Given the description of an element on the screen output the (x, y) to click on. 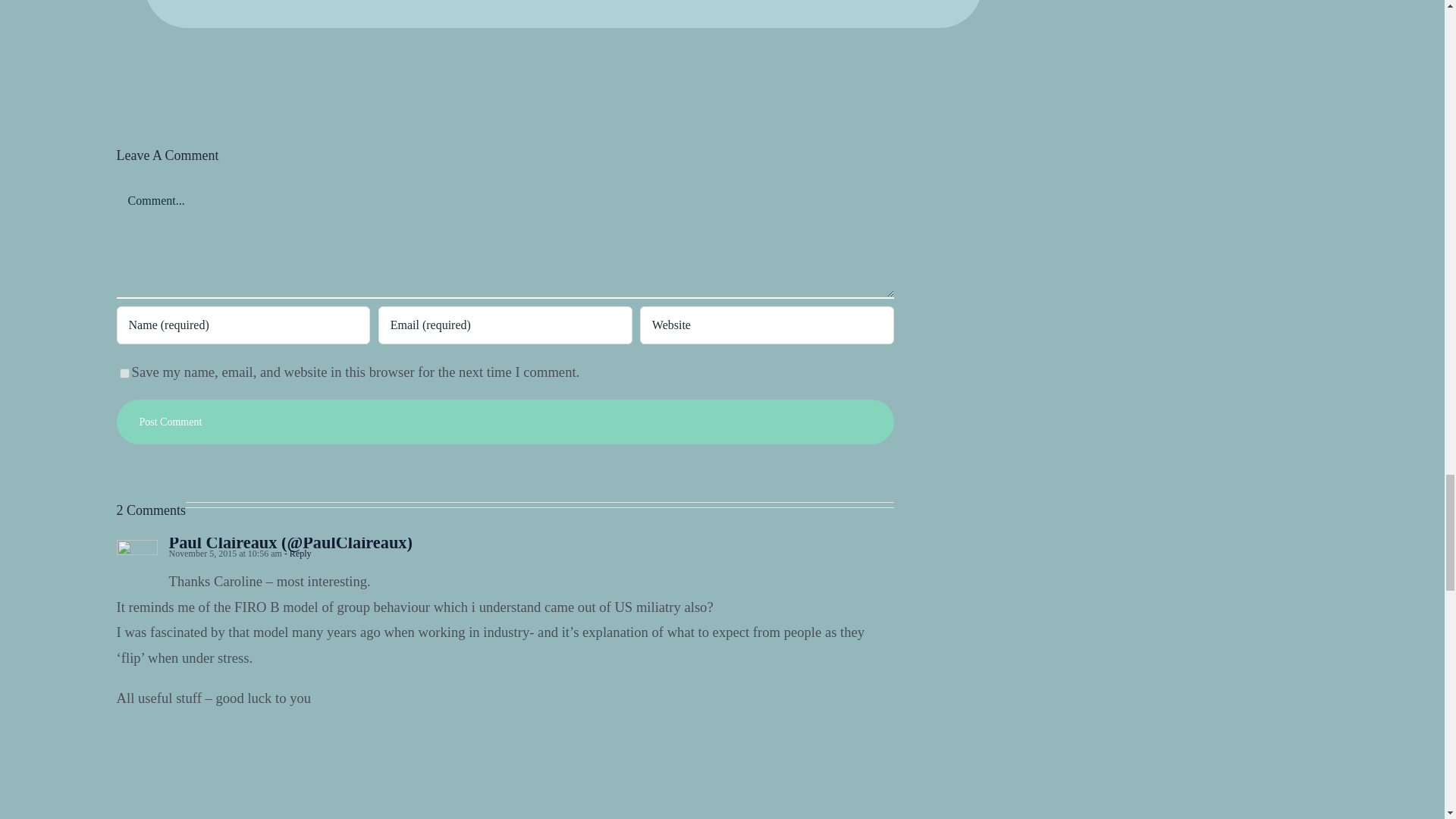
yes (124, 373)
Post Comment (504, 421)
- Reply (296, 552)
Post Comment (504, 421)
